Given the description of an element on the screen output the (x, y) to click on. 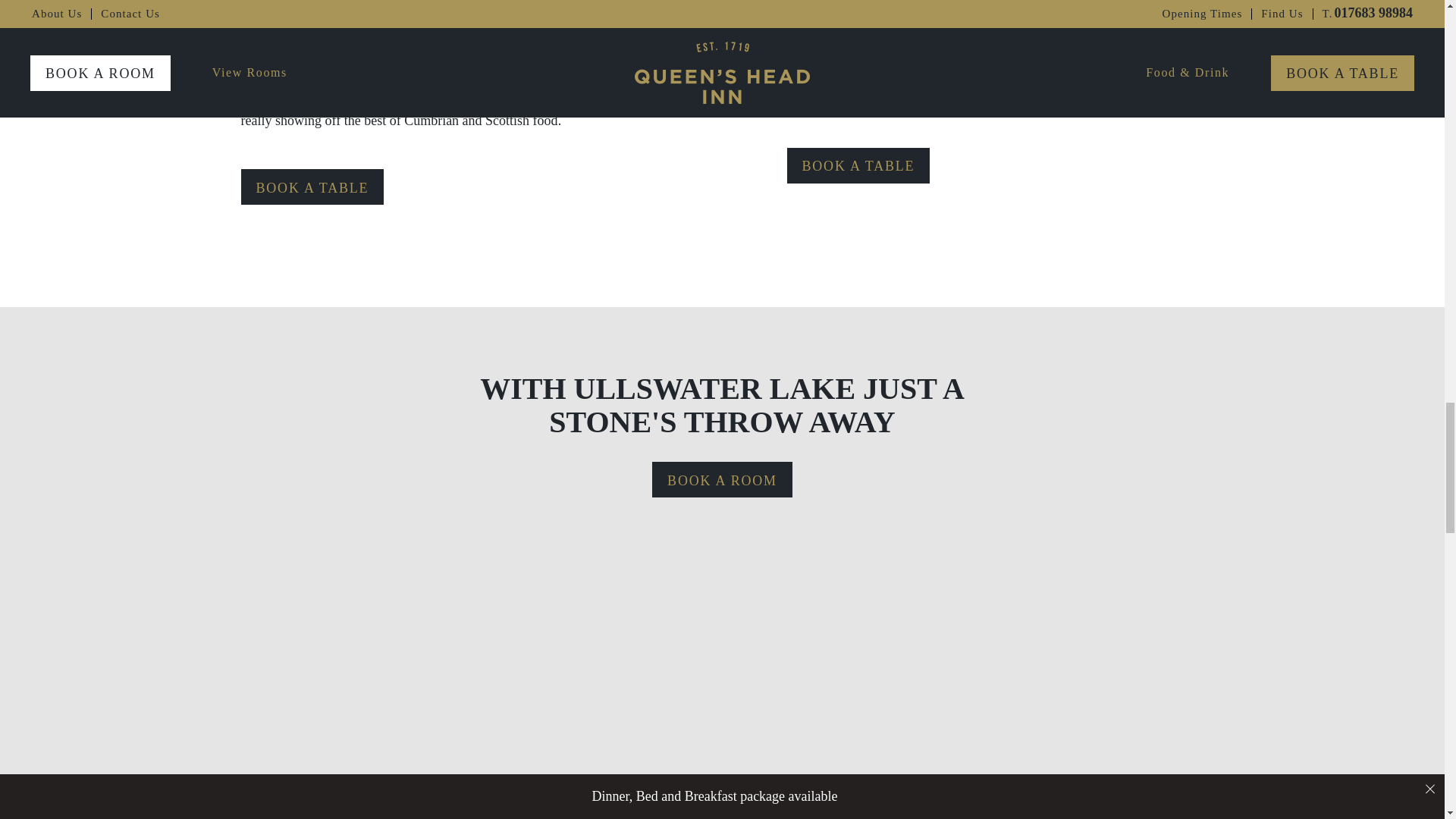
BOOK A TABLE (312, 186)
BOOK A ROOM (722, 479)
BOOK A TABLE (858, 165)
